Given the description of an element on the screen output the (x, y) to click on. 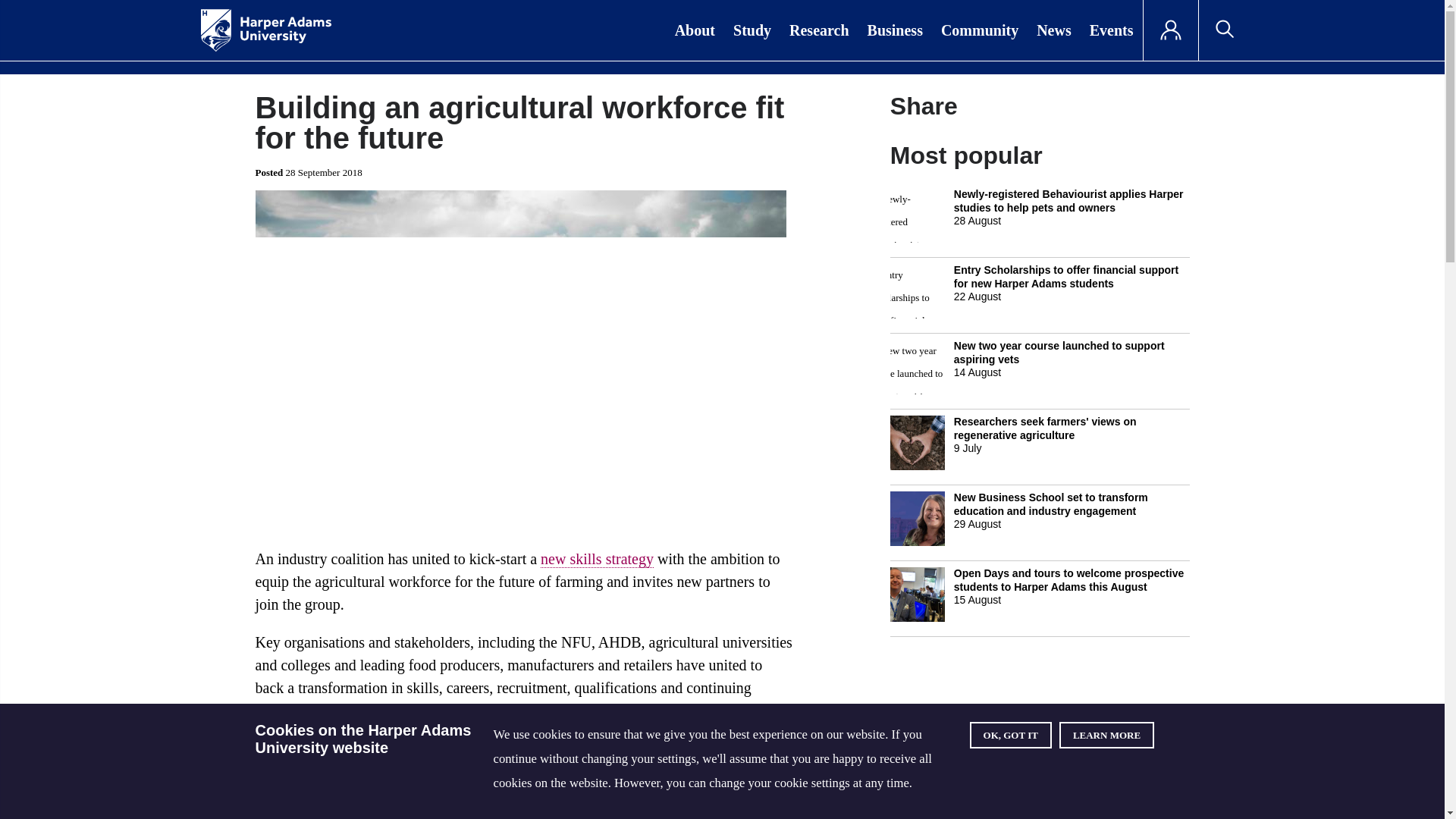
Community (979, 30)
Business (895, 30)
Events (1111, 30)
About (694, 30)
Research (819, 30)
Study (751, 30)
